Given the description of an element on the screen output the (x, y) to click on. 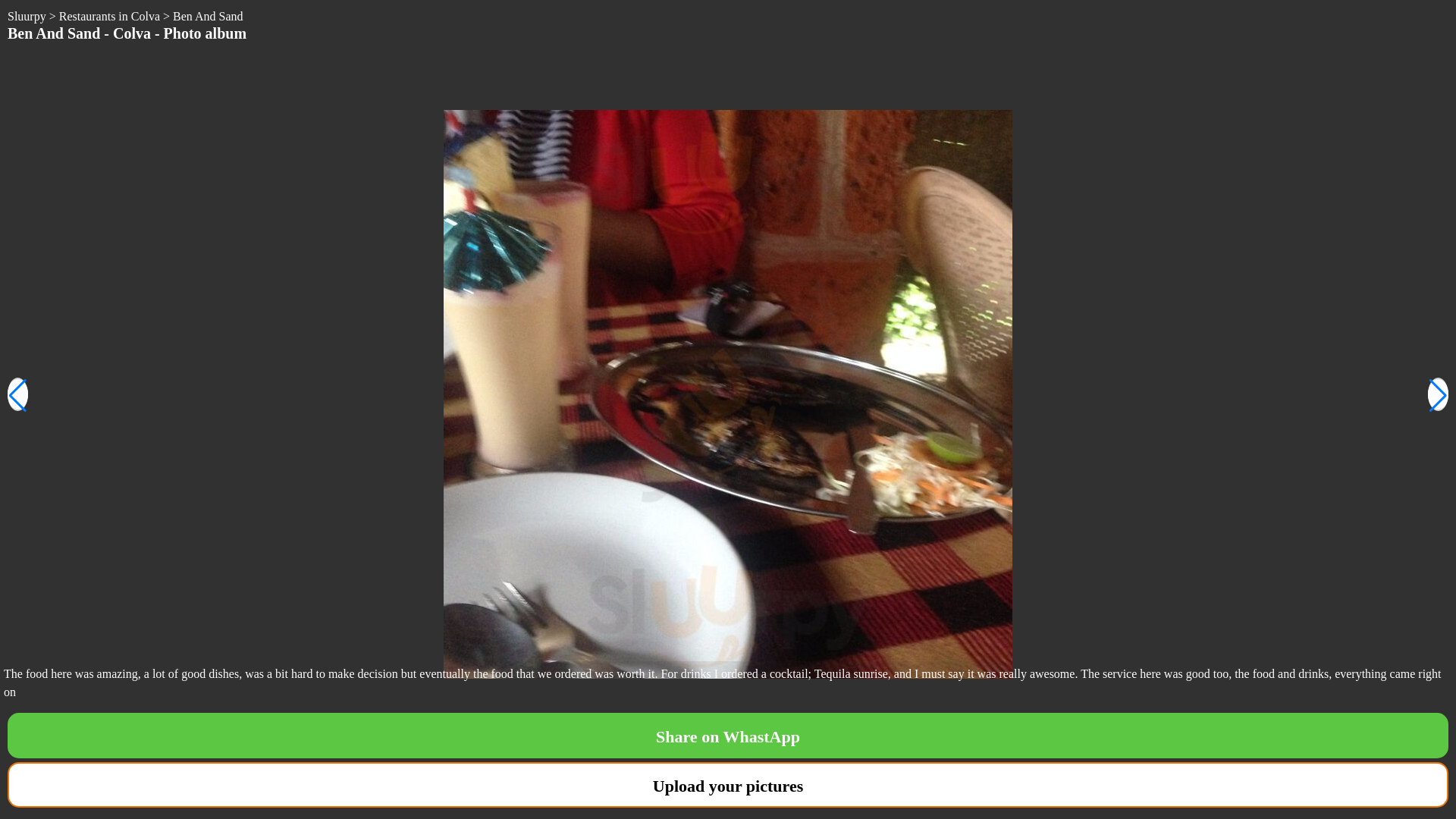
Ben And Sand (208, 15)
Restaurants in Colva (109, 15)
Sluurpy (26, 15)
